Given the description of an element on the screen output the (x, y) to click on. 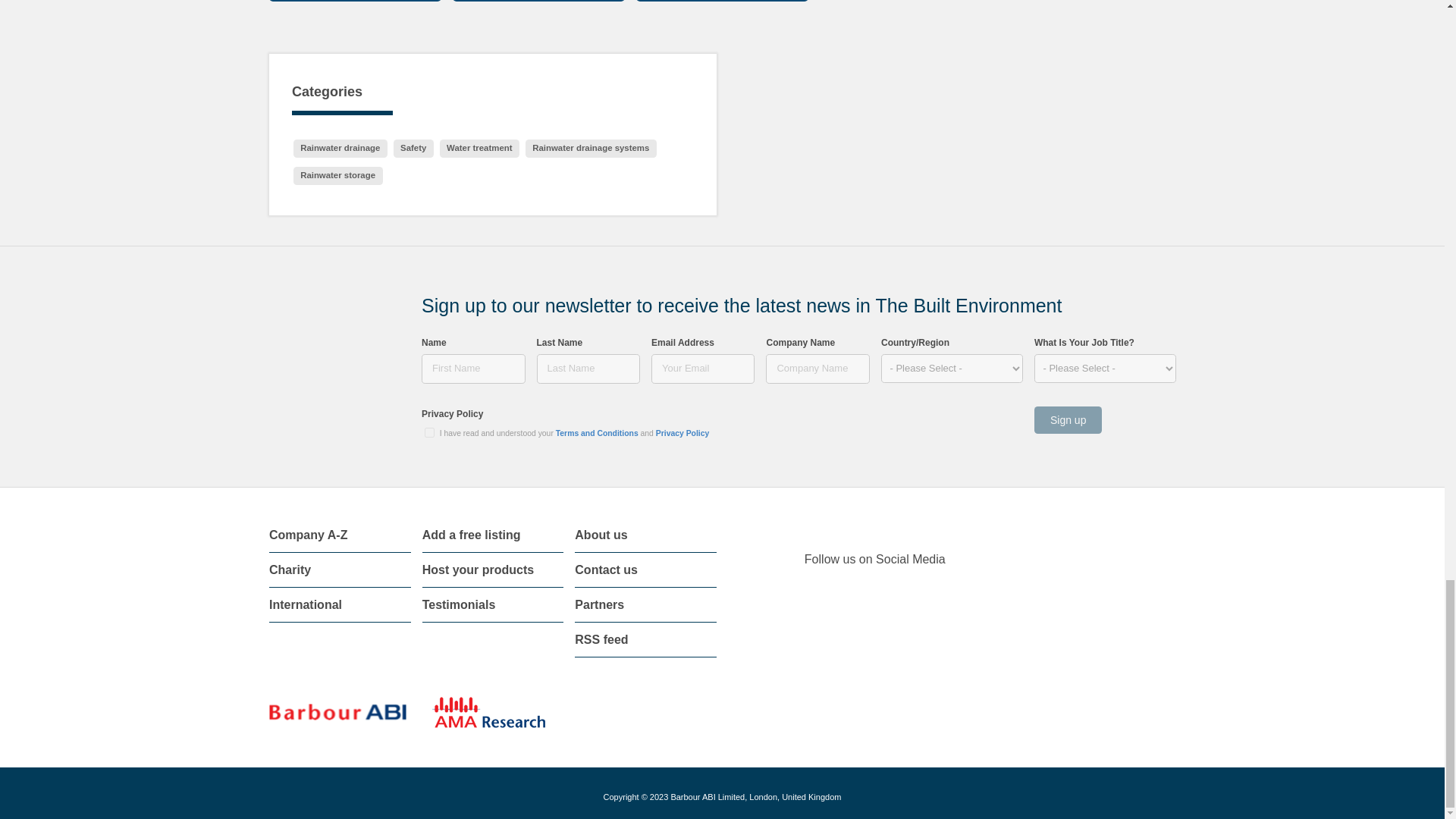
Sign up (1067, 420)
